Given the description of an element on the screen output the (x, y) to click on. 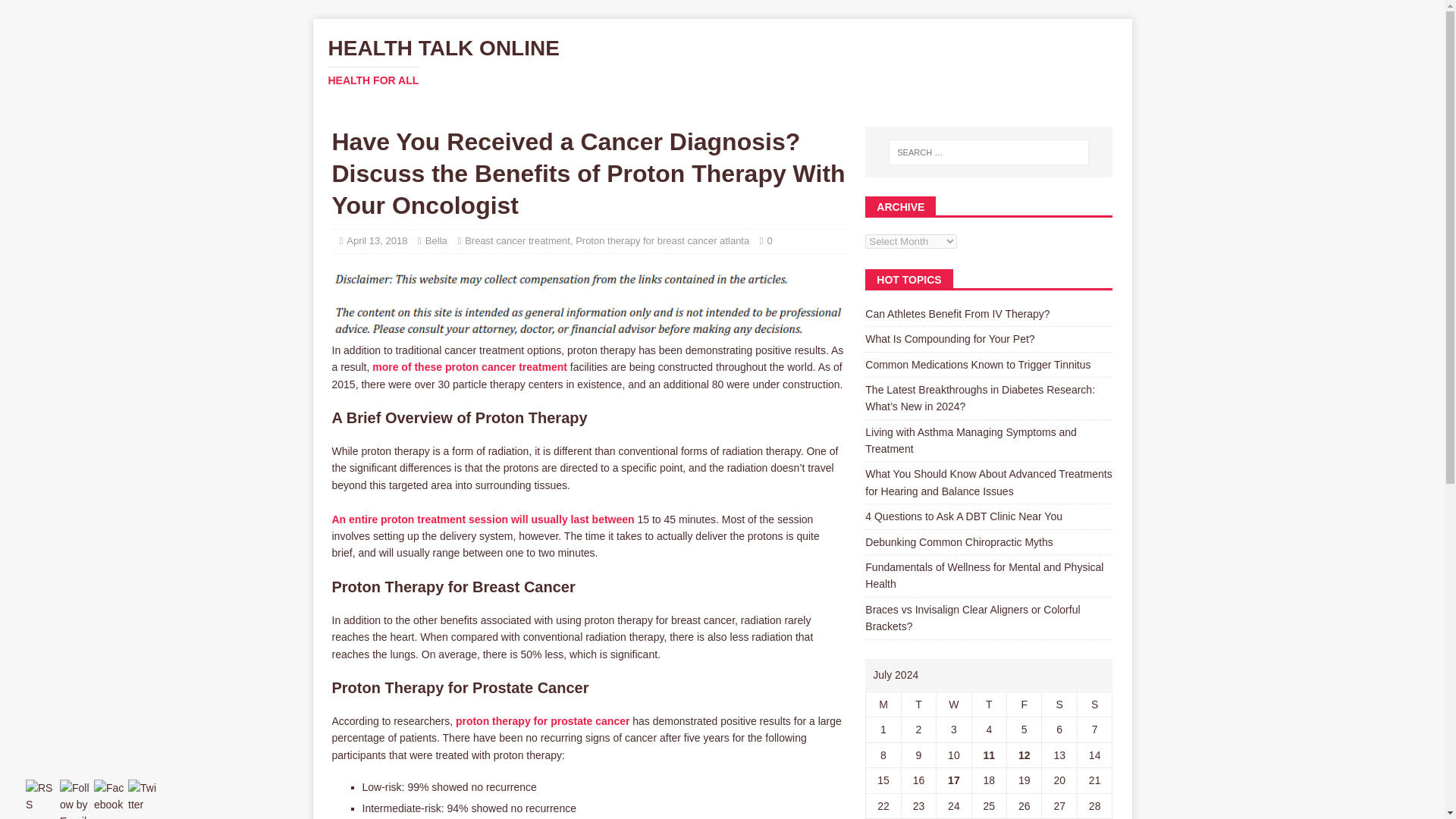
Search (56, 11)
Common Medications Known to Trigger Tinnitus (977, 364)
proton therapy for prostate cancer (542, 720)
Can Athletes Benefit From IV Therapy? (956, 313)
Cancer proton therapy (469, 367)
Bella (435, 240)
Monday (883, 703)
Health Talk Online (721, 61)
Cool things (542, 720)
Braces vs Invisalign Clear Aligners or Colorful Brackets? (972, 617)
more of these proton cancer treatment (721, 61)
Something I found (469, 367)
Wednesday (482, 519)
Saturday (953, 703)
